Given the description of an element on the screen output the (x, y) to click on. 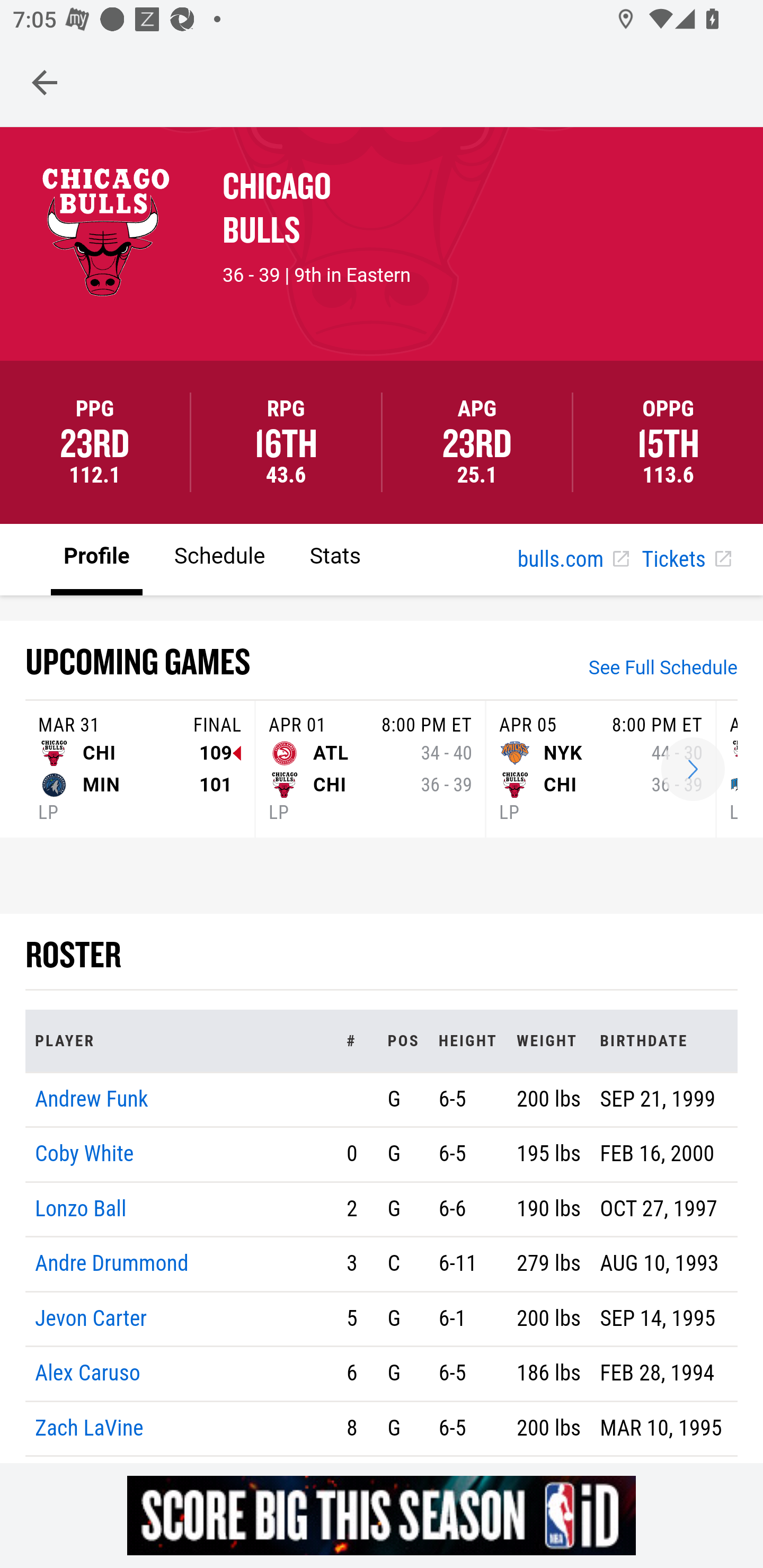
Navigate up (44, 82)
Profile (97, 558)
Schedule (219, 558)
Stats (335, 558)
bulls.com (572, 560)
Tickets (685, 560)
See Full Schedule (662, 669)
Match-up Scores (692, 769)
Andrew Funk (92, 1098)
Coby White (85, 1154)
Lonzo Ball (81, 1207)
Andre Drummond (112, 1264)
Jevon Carter (91, 1317)
Alex Caruso (88, 1374)
Zach LaVine (89, 1427)
g5nqqygr7owph (381, 1515)
